Given the description of an element on the screen output the (x, y) to click on. 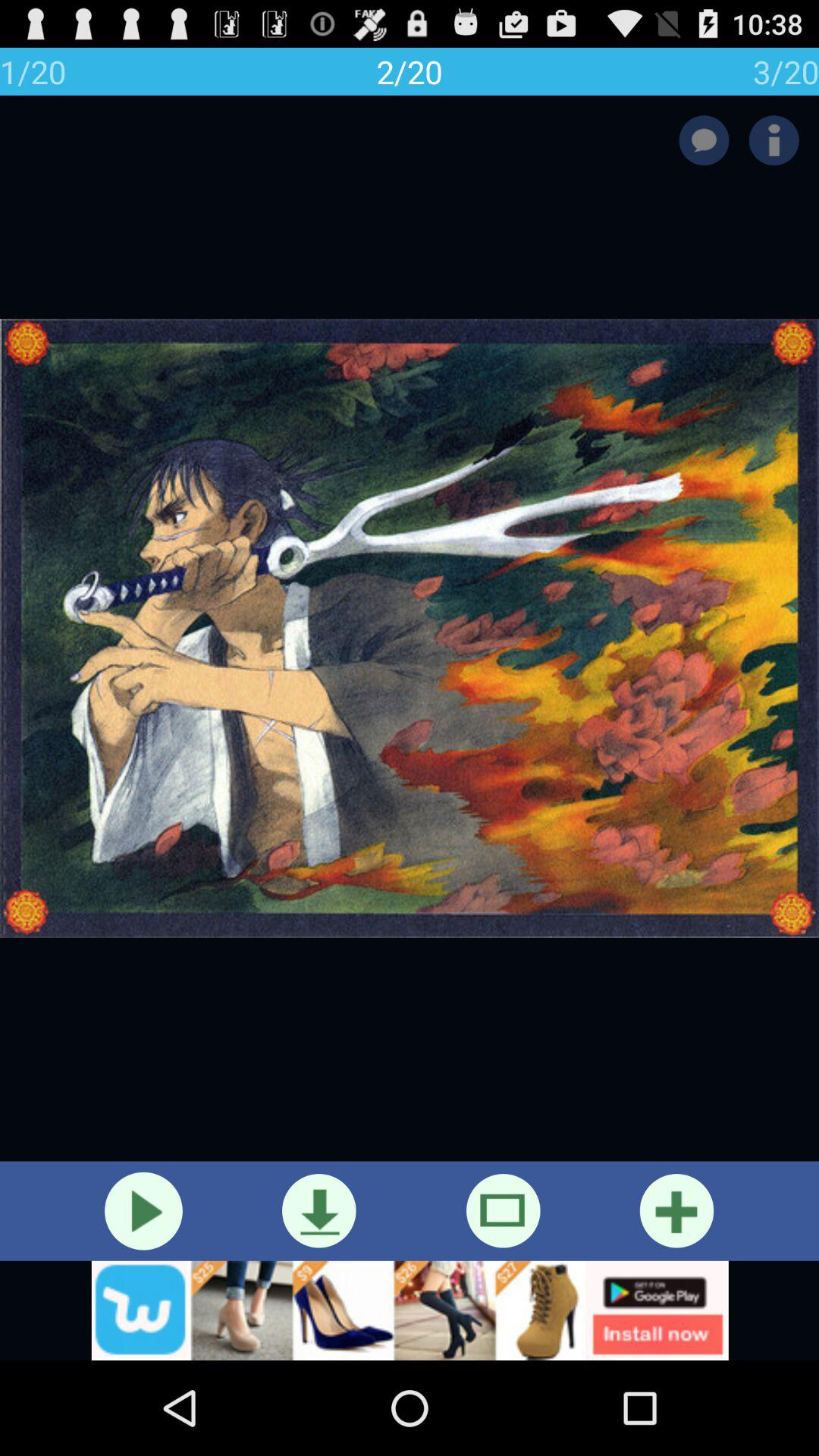
toggle info option (774, 140)
